Given the description of an element on the screen output the (x, y) to click on. 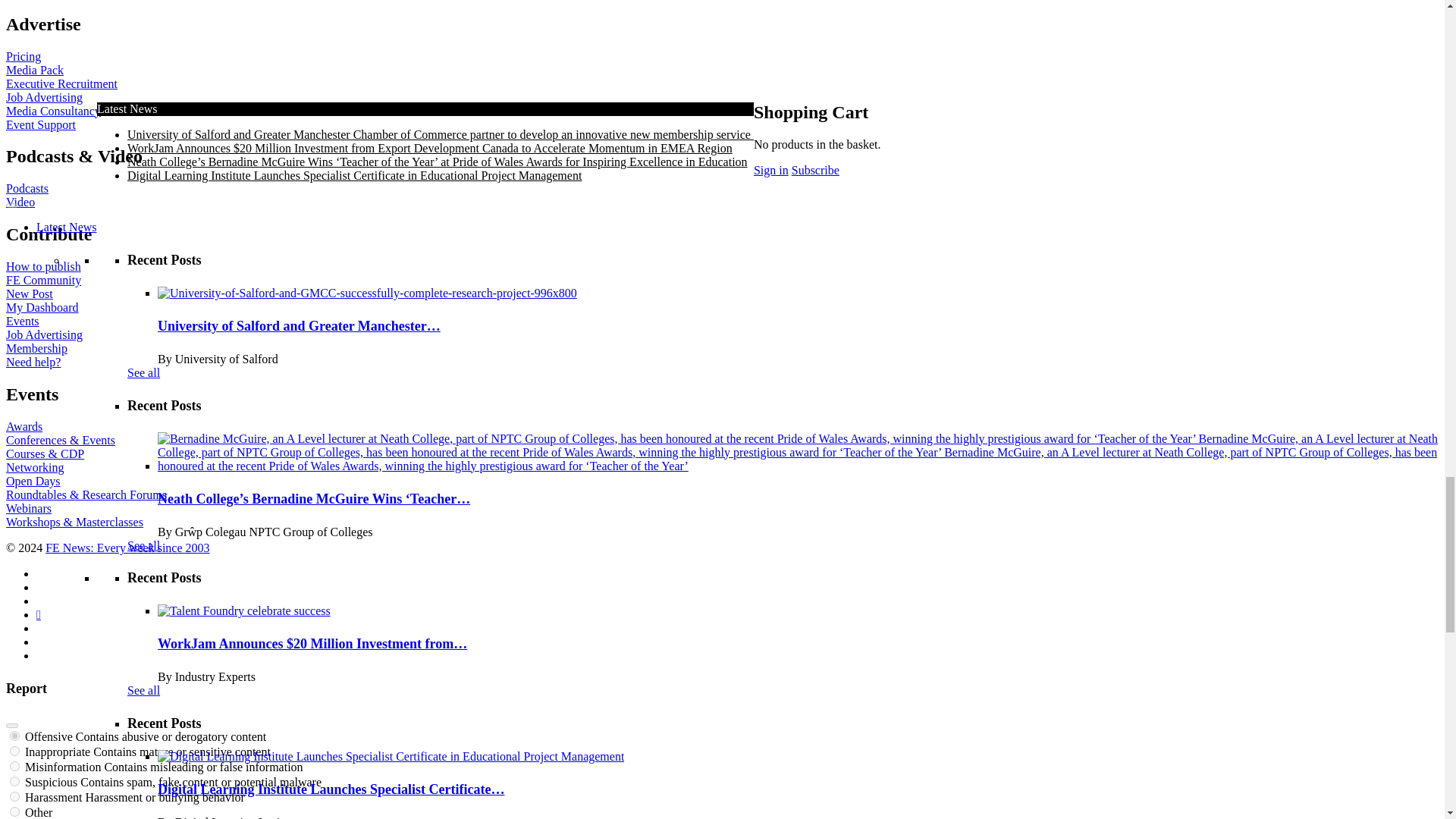
41895 (15, 750)
41897 (15, 781)
Academy (424, 328)
Media pack (424, 779)
41898 (15, 796)
41896 (15, 766)
other (15, 811)
41894 (15, 736)
